Given the description of an element on the screen output the (x, y) to click on. 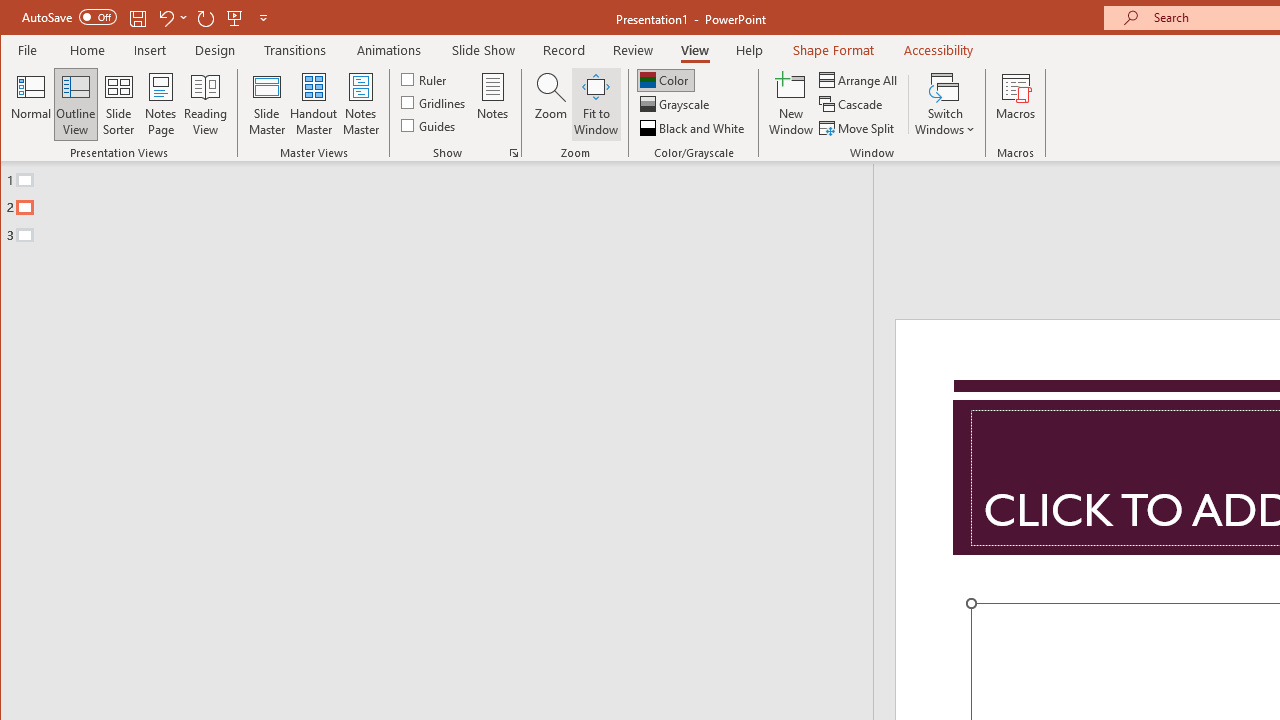
Macros (1016, 104)
